Given the description of an element on the screen output the (x, y) to click on. 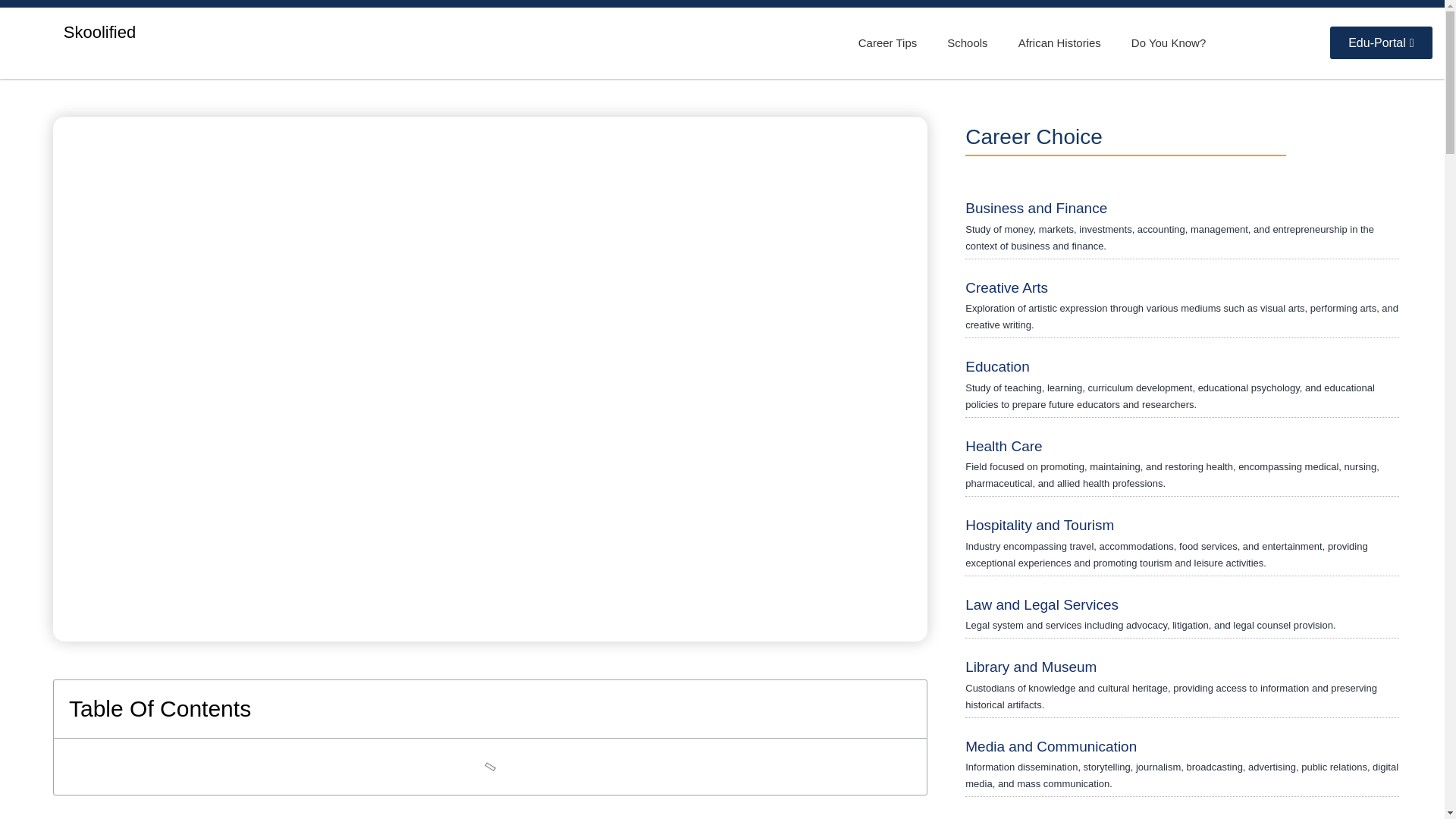
Edu-Portal (1380, 42)
Schools (967, 42)
Career Tips (888, 42)
African Histories (1059, 42)
